Given the description of an element on the screen output the (x, y) to click on. 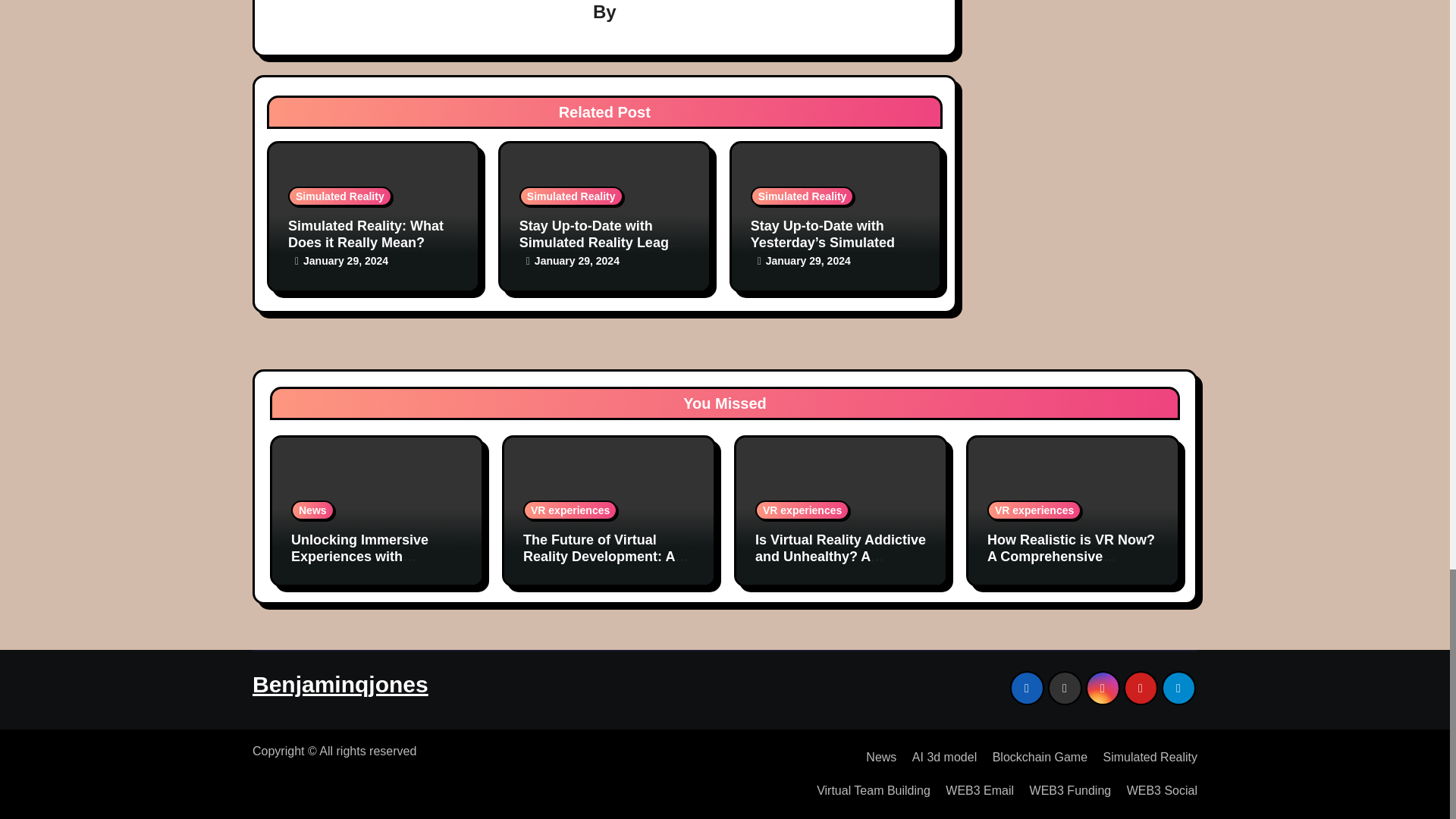
Simulated Reality (339, 196)
Simulated Reality (571, 196)
Blockchain Game (1033, 757)
Simulated Reality (1143, 757)
News (874, 757)
Permalink to: Simulated Reality: What Does it Really Mean? (366, 234)
January 29, 2024 (345, 260)
Virtual Team Building (867, 790)
